Given the description of an element on the screen output the (x, y) to click on. 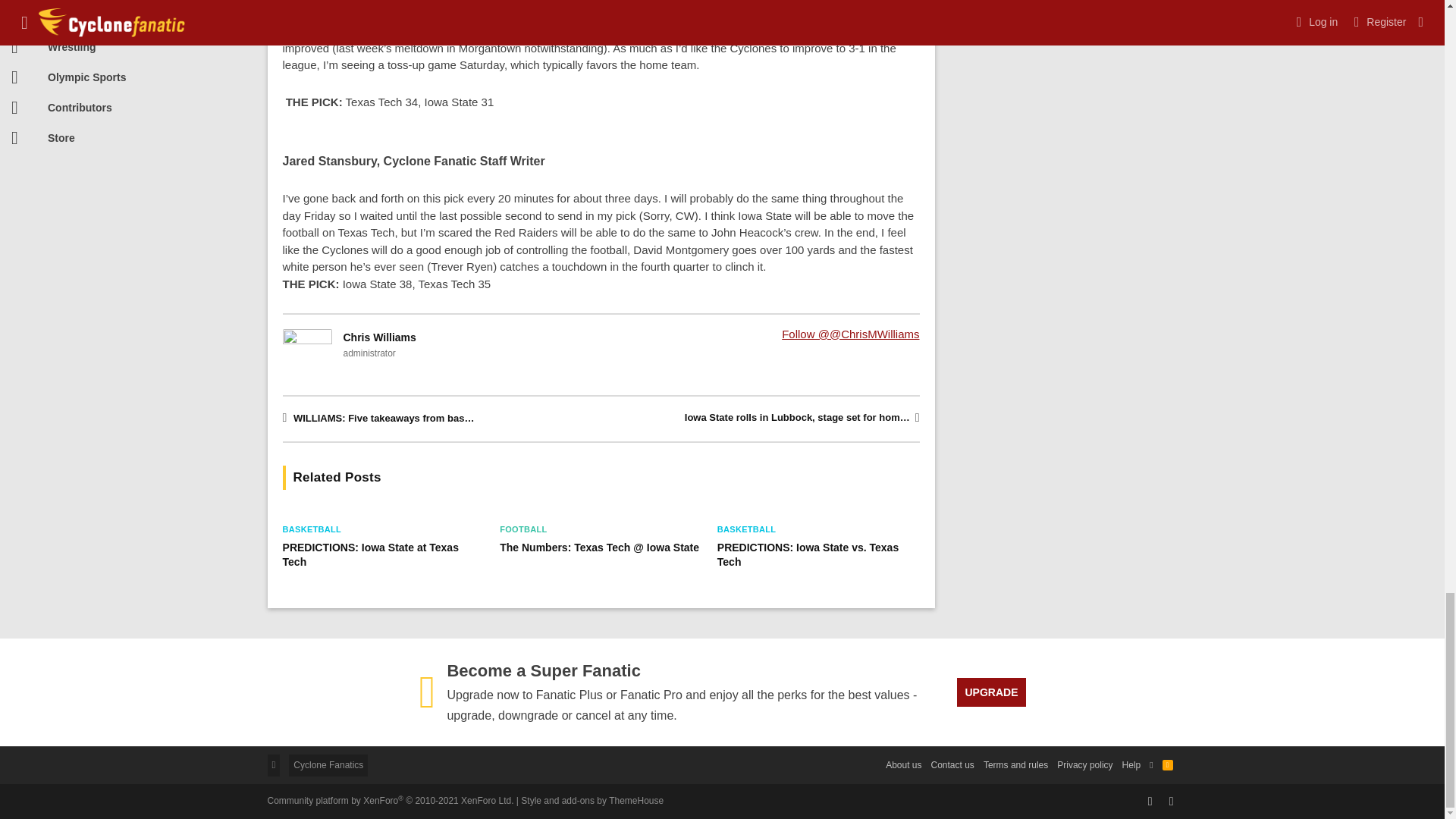
Style chooser (328, 765)
